Given the description of an element on the screen output the (x, y) to click on. 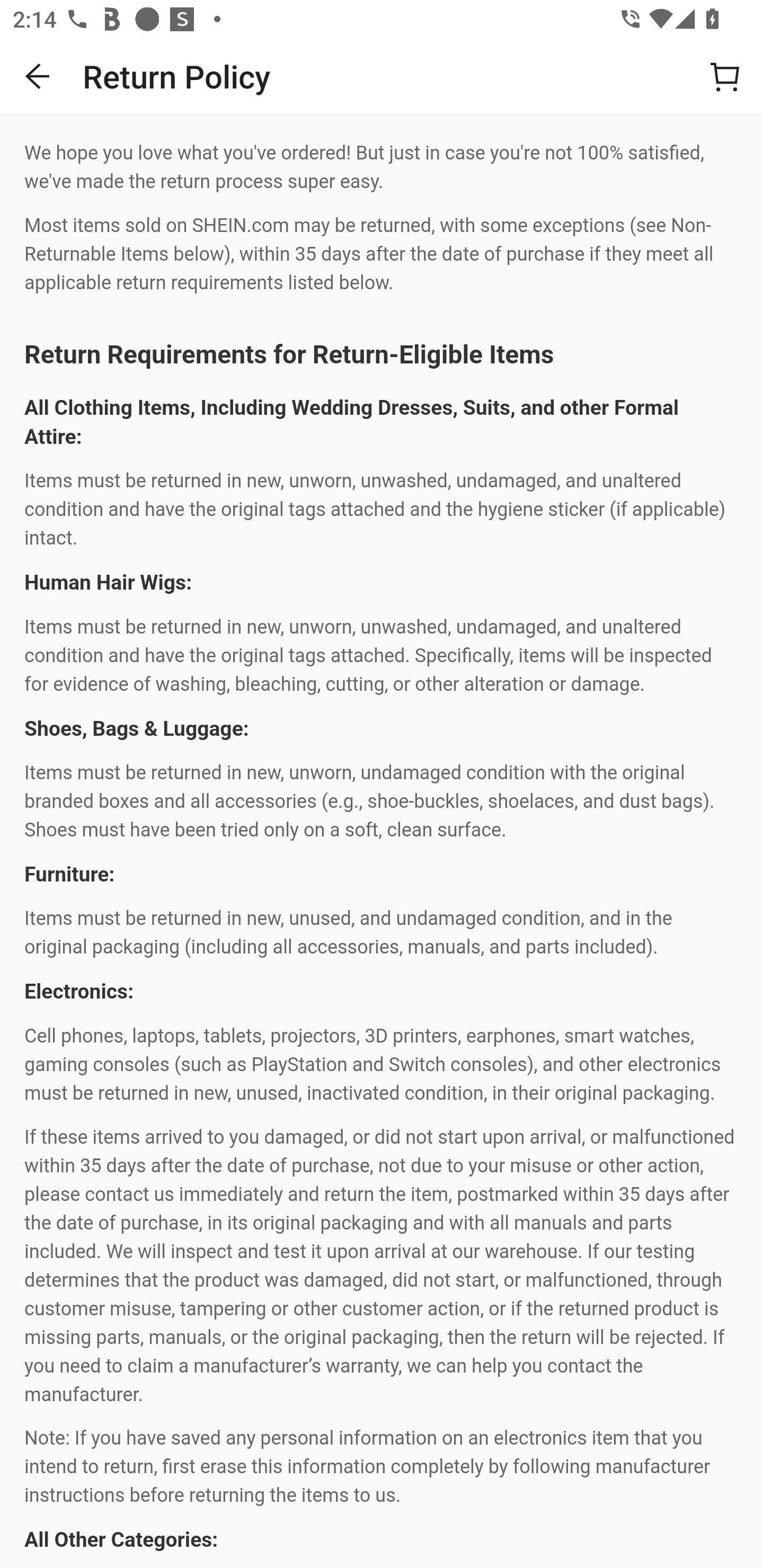
BACK (38, 75)
Cart (724, 75)
